Given the description of an element on the screen output the (x, y) to click on. 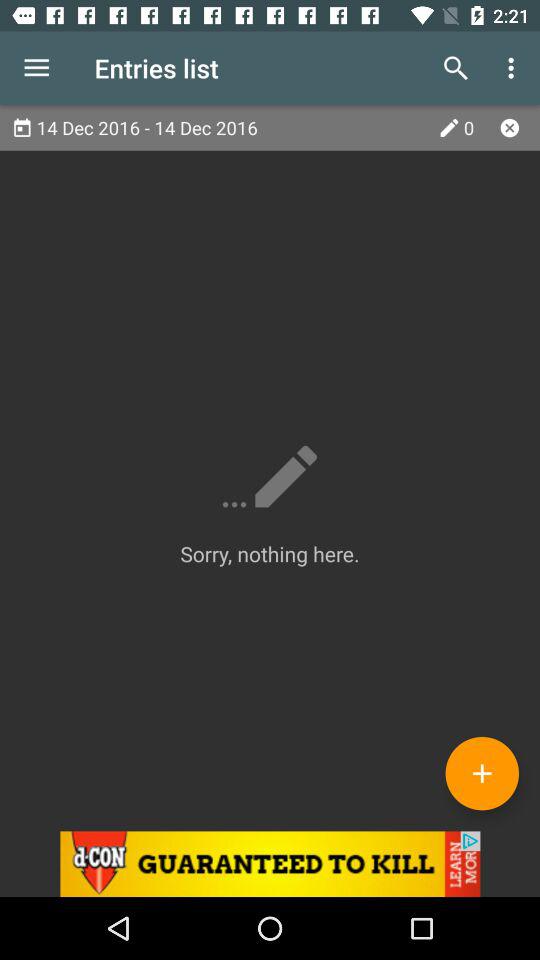
add icon (482, 773)
